Given the description of an element on the screen output the (x, y) to click on. 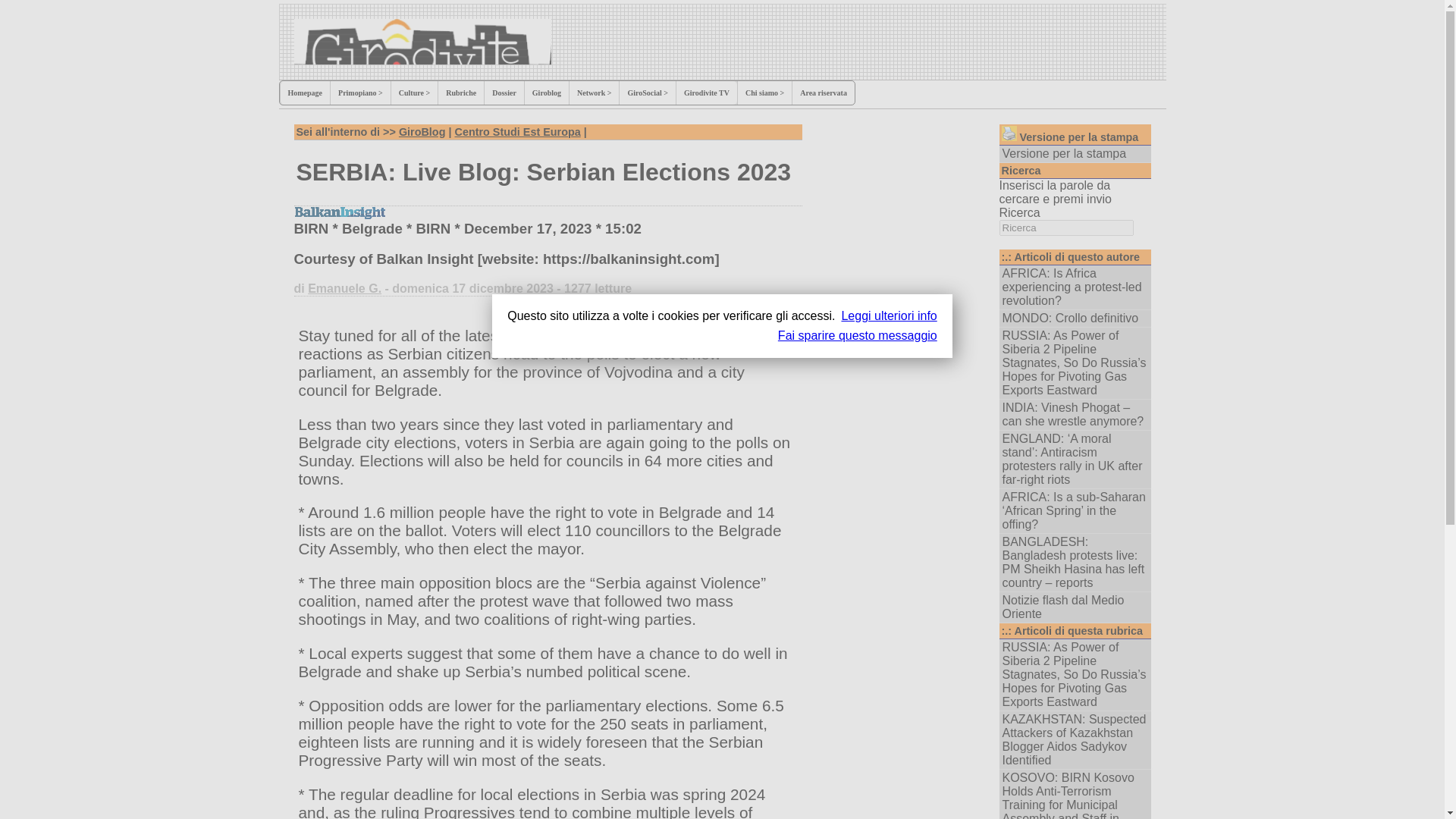
Le rubriche di Primopiano (360, 92)
I social network di Girodivite (646, 92)
Per conoscere meglio Girodivite e collaborare... (764, 92)
Versione per la stampa (1008, 133)
Homepage (304, 92)
Giroblog (546, 92)
Rubriche (460, 92)
Le rubriche di Girodivite (460, 92)
Advertisement (899, 41)
